Given the description of an element on the screen output the (x, y) to click on. 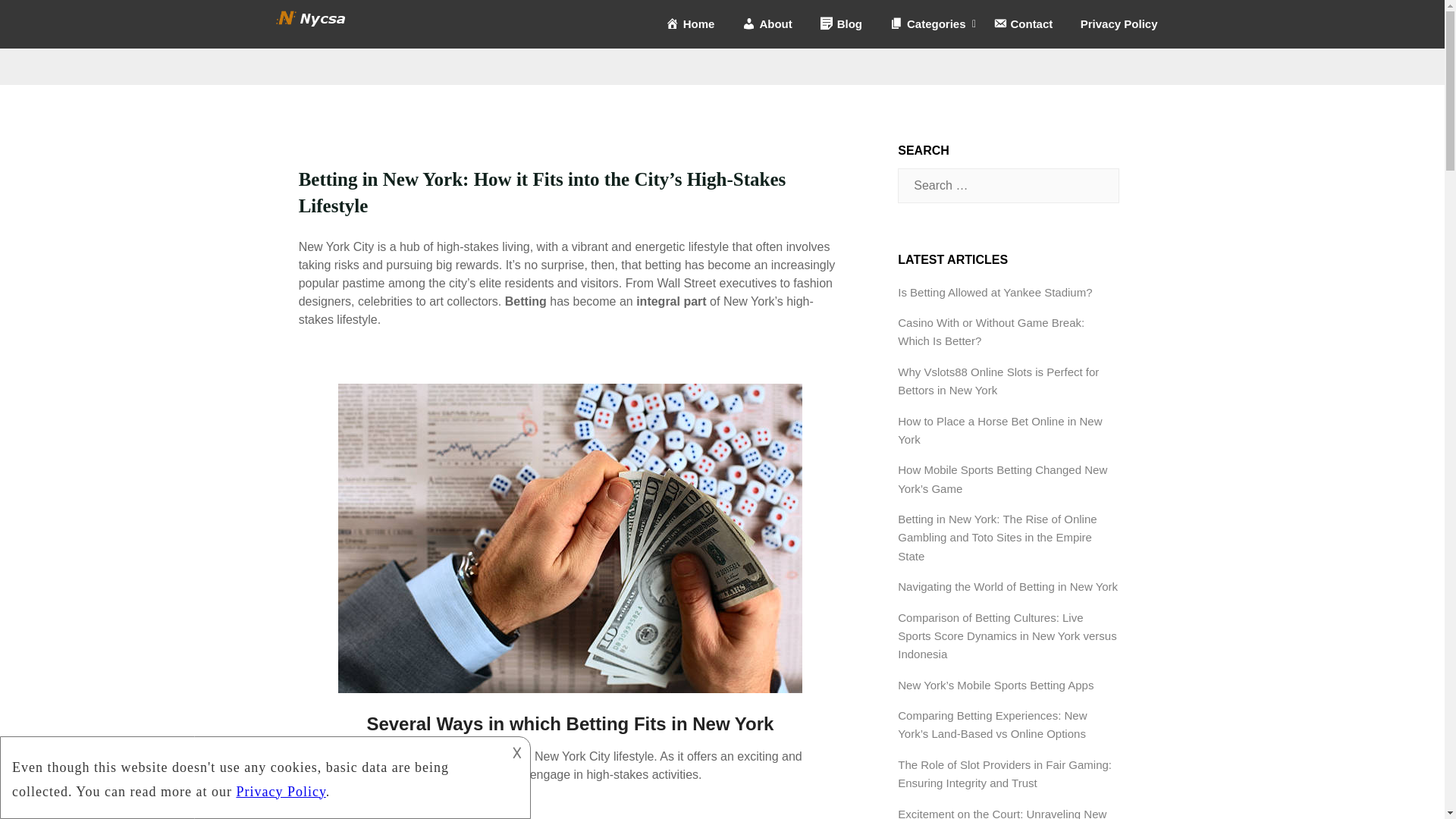
Casino With or Without Game Break: Which Is Better? (991, 331)
Privacy Policy (1119, 24)
How to Place a Horse Bet Online in New York (1000, 429)
Is Betting Allowed at Yankee Stadium? (995, 291)
Categories (926, 24)
Navigating the World of Betting in New York (1008, 585)
description (252, 775)
Why Vslots88 Online Slots is Perfect for Bettors in New York (998, 380)
Search (38, 22)
Blog (841, 24)
About (767, 24)
Contact (1022, 24)
